Given the description of an element on the screen output the (x, y) to click on. 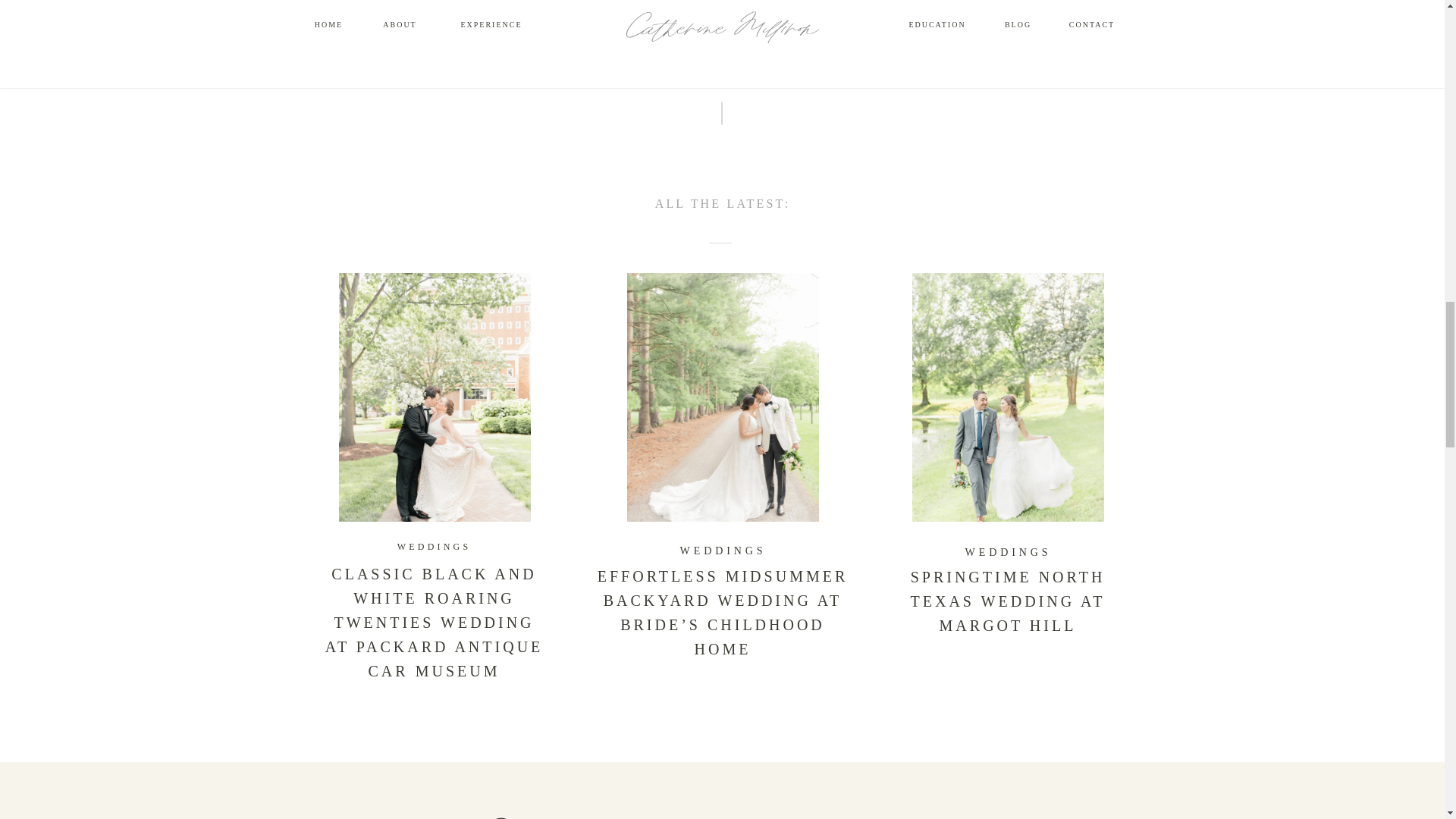
arrow (769, 5)
Fall Columbus Ohio German Village Engagement (769, 5)
Fall Columbus Ohio German Village Engagement (529, 5)
